Given the description of an element on the screen output the (x, y) to click on. 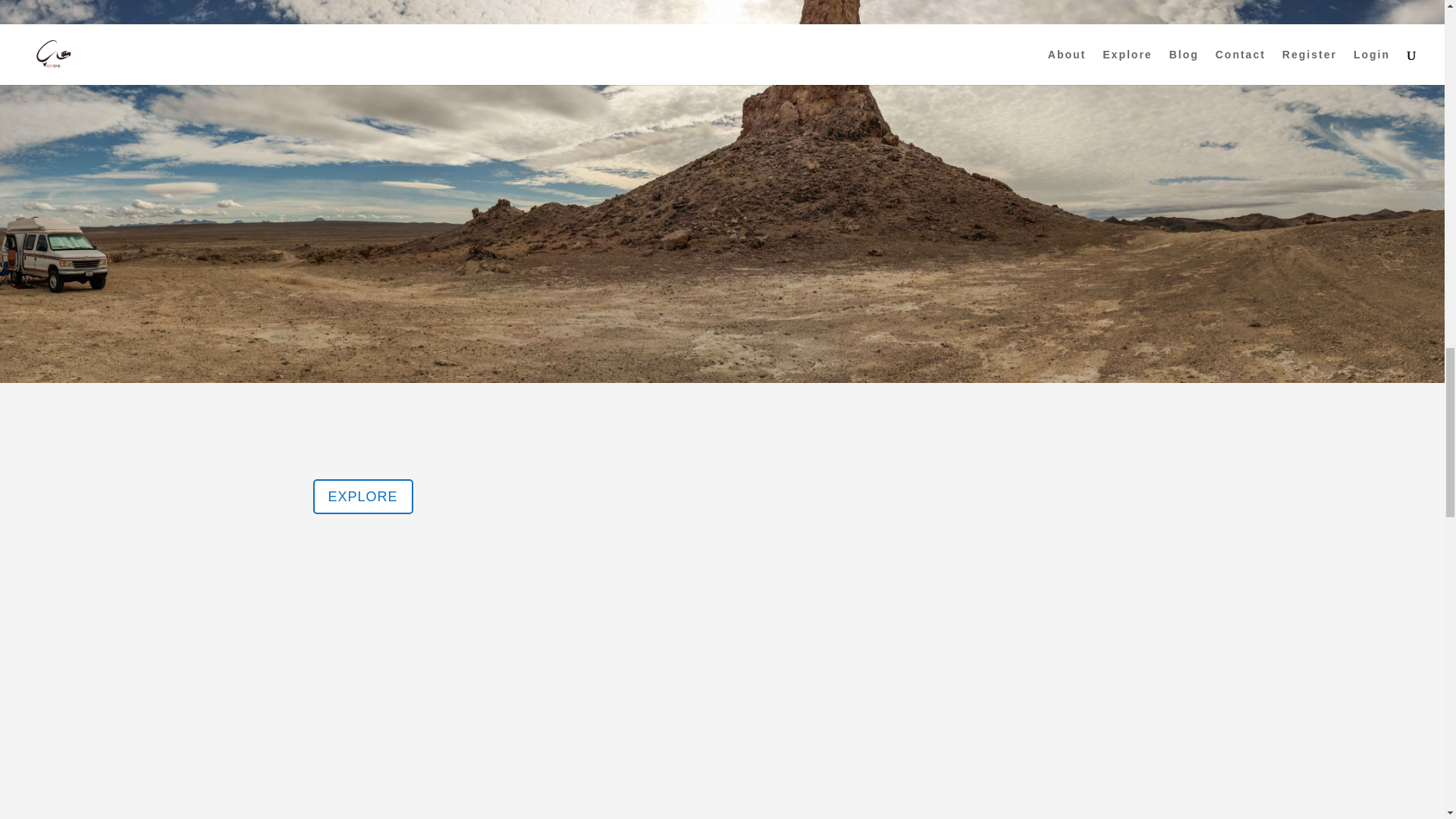
EXPLORE (362, 496)
